Given the description of an element on the screen output the (x, y) to click on. 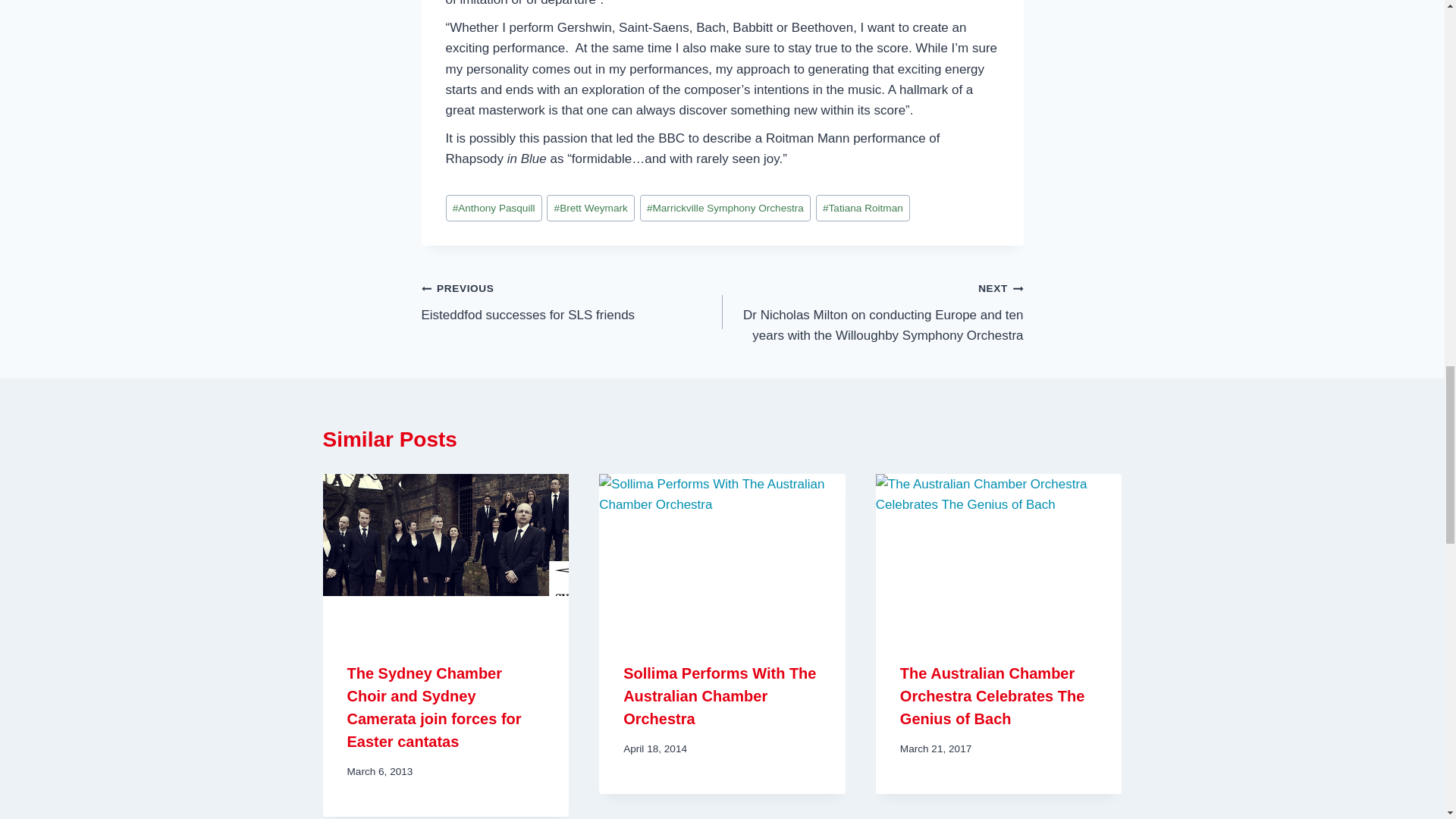
Sollima Performs With The Australian Chamber Orchestra (719, 696)
Brett Weymark (590, 207)
Marrickville Symphony Orchestra (725, 207)
Tatiana Roitman (862, 207)
Anthony Pasquill (572, 301)
